Given the description of an element on the screen output the (x, y) to click on. 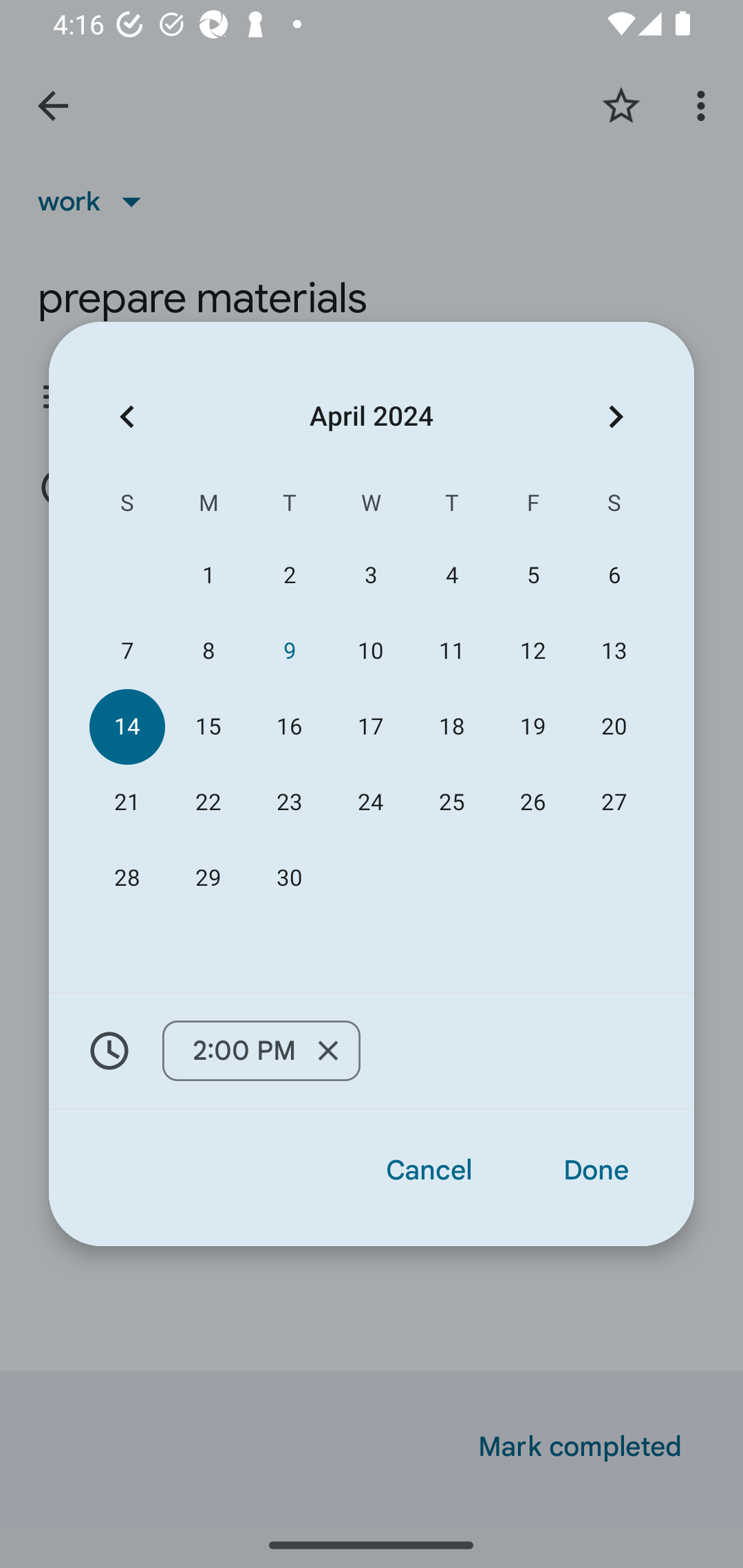
Previous month (126, 416)
Next month (615, 416)
1 01 April 2024 (207, 575)
2 02 April 2024 (288, 575)
3 03 April 2024 (370, 575)
4 04 April 2024 (451, 575)
5 05 April 2024 (532, 575)
6 06 April 2024 (613, 575)
7 07 April 2024 (126, 650)
8 08 April 2024 (207, 650)
9 09 April 2024 (288, 650)
10 10 April 2024 (370, 650)
11 11 April 2024 (451, 650)
12 12 April 2024 (532, 650)
13 13 April 2024 (613, 650)
14 14 April 2024 (126, 726)
15 15 April 2024 (207, 726)
16 16 April 2024 (288, 726)
17 17 April 2024 (370, 726)
18 18 April 2024 (451, 726)
19 19 April 2024 (532, 726)
20 20 April 2024 (613, 726)
21 21 April 2024 (126, 802)
22 22 April 2024 (207, 802)
23 23 April 2024 (288, 802)
24 24 April 2024 (370, 802)
25 25 April 2024 (451, 802)
26 26 April 2024 (532, 802)
27 27 April 2024 (613, 802)
28 28 April 2024 (126, 877)
29 29 April 2024 (207, 877)
30 30 April 2024 (288, 877)
2:00 PM Remove 2:00 PM (371, 1051)
2:00 PM Remove 2:00 PM (261, 1050)
Cancel (429, 1170)
Done (595, 1170)
